Given the description of an element on the screen output the (x, y) to click on. 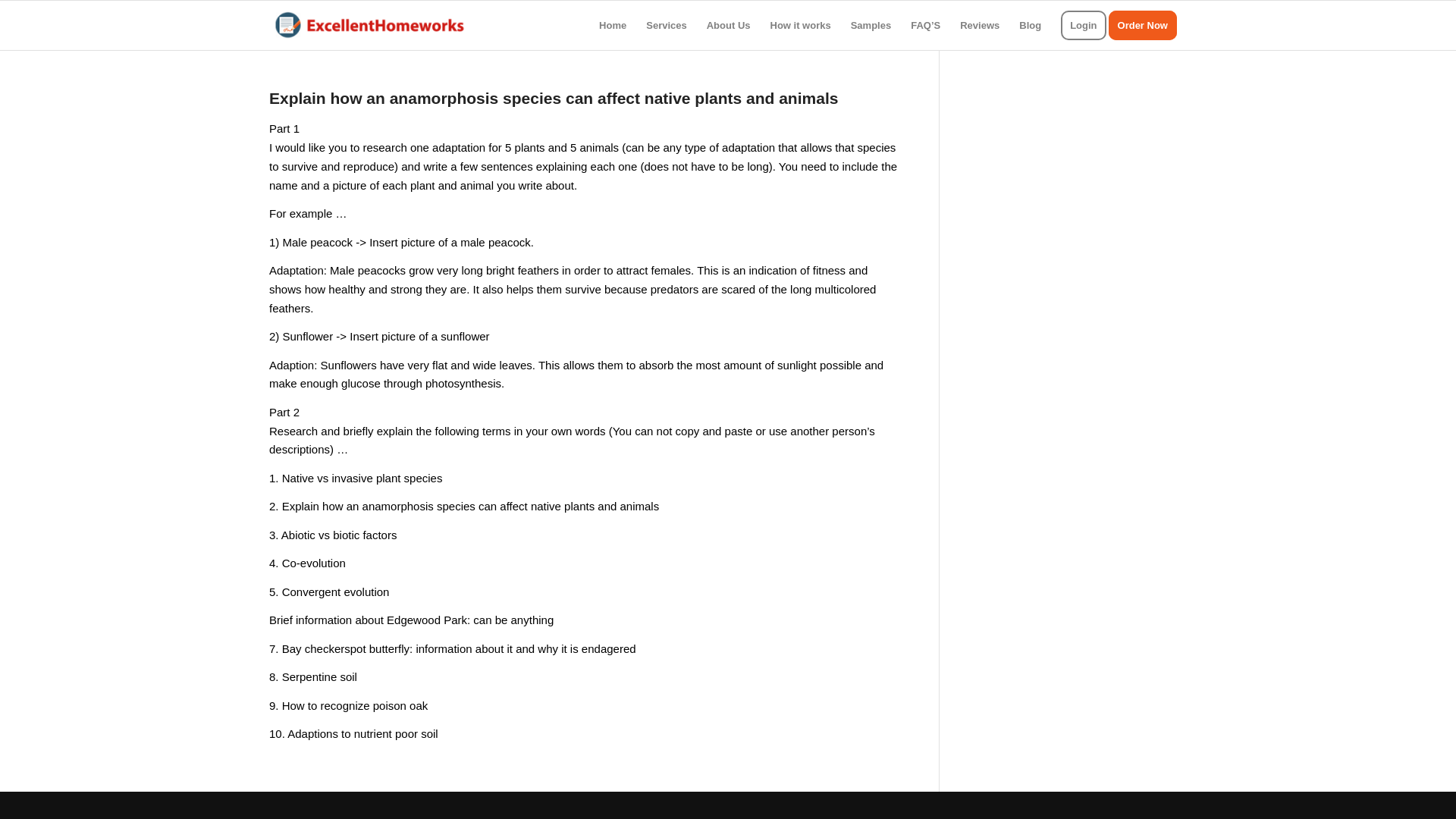
Login (1083, 24)
About Us (728, 24)
Home (612, 24)
Order Now (1147, 24)
Services (666, 24)
How it works (800, 24)
Samples (871, 24)
Reviews (979, 24)
Blog (1030, 24)
